Given the description of an element on the screen output the (x, y) to click on. 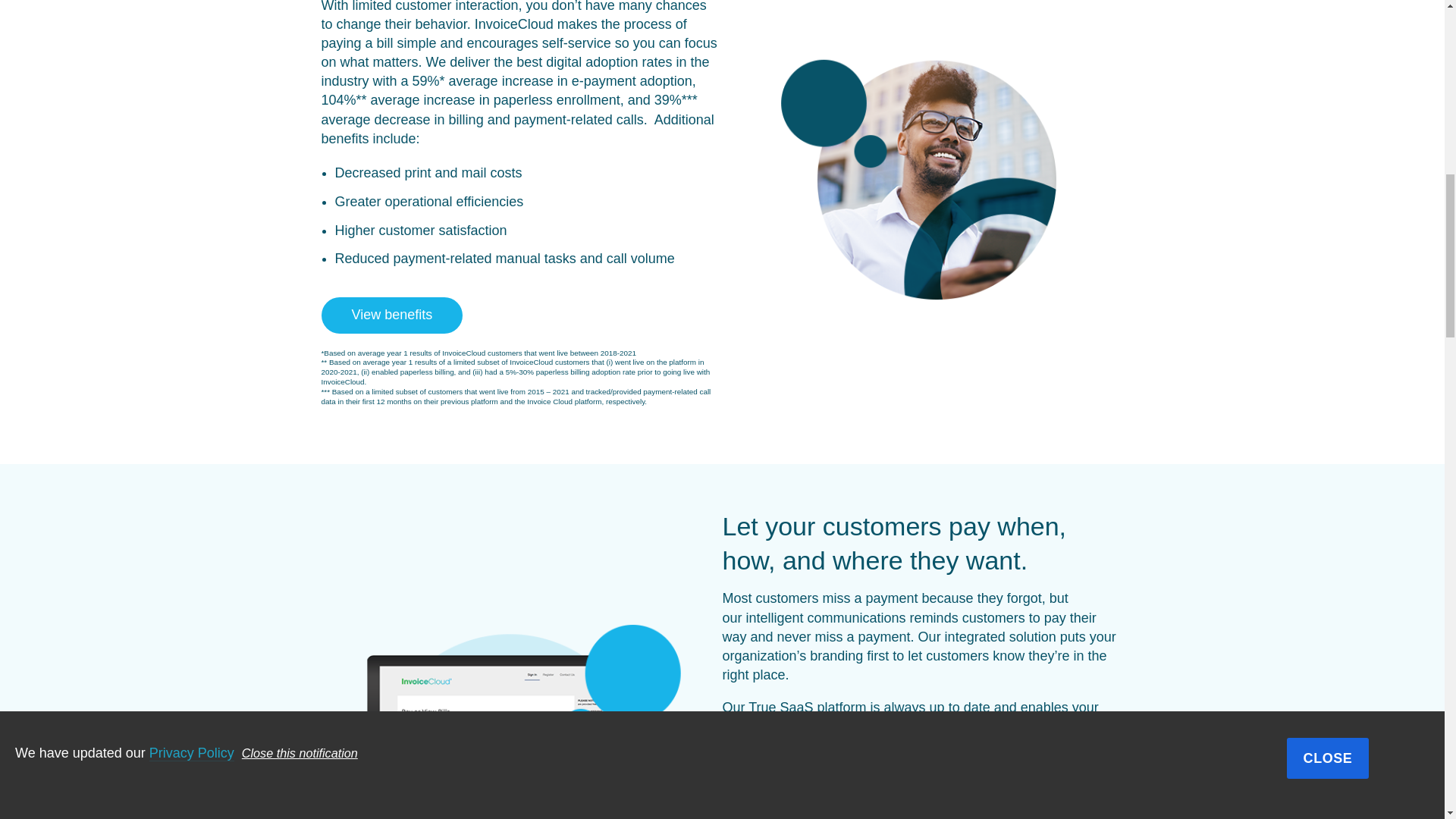
View benefits (392, 314)
